Given the description of an element on the screen output the (x, y) to click on. 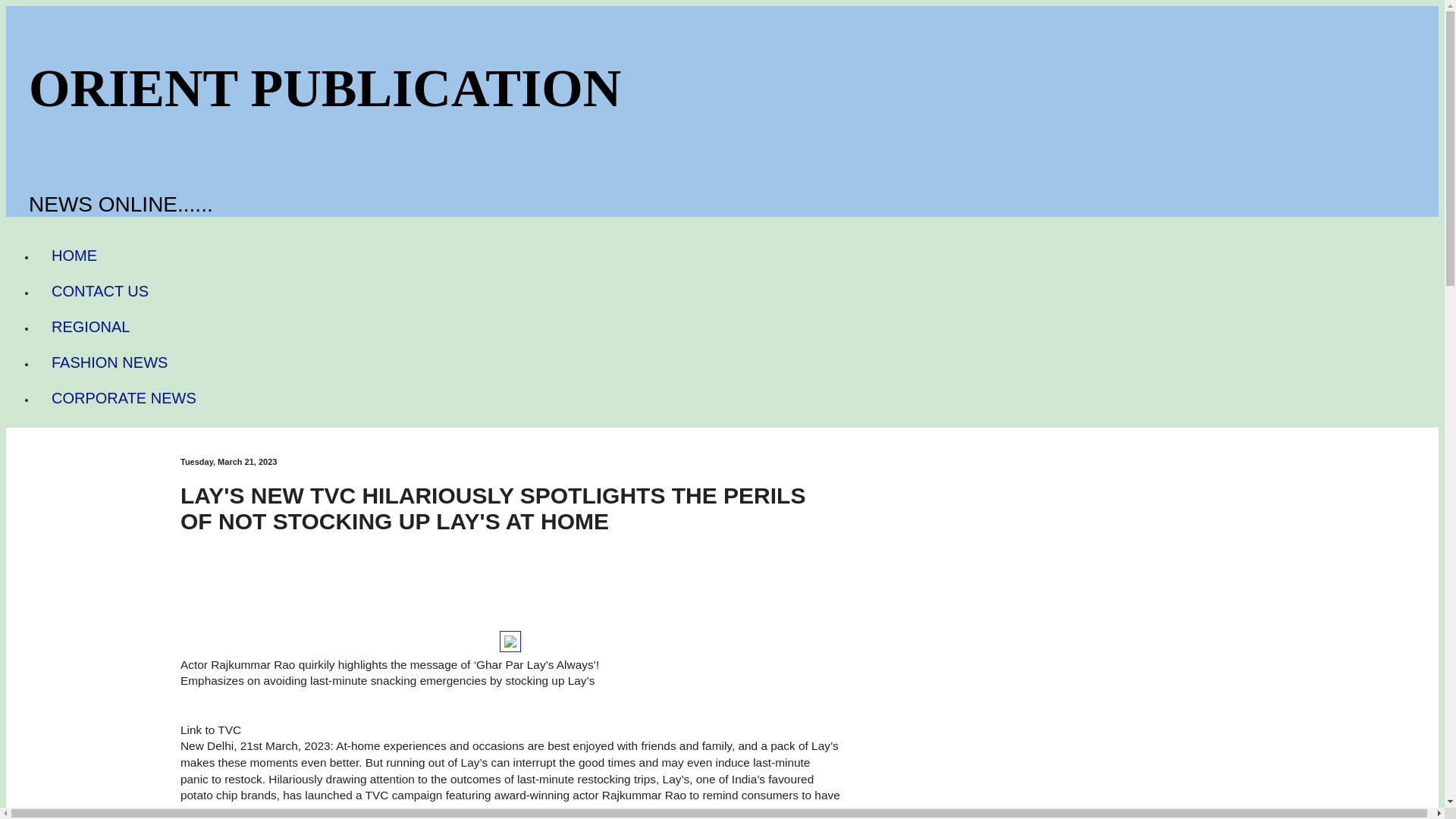
HOME (74, 255)
CORPORATE NEWS (123, 398)
CONTACT US (99, 291)
FASHION NEWS (109, 362)
ORIENT PUBLICATION (325, 87)
REGIONAL (90, 326)
